Given the description of an element on the screen output the (x, y) to click on. 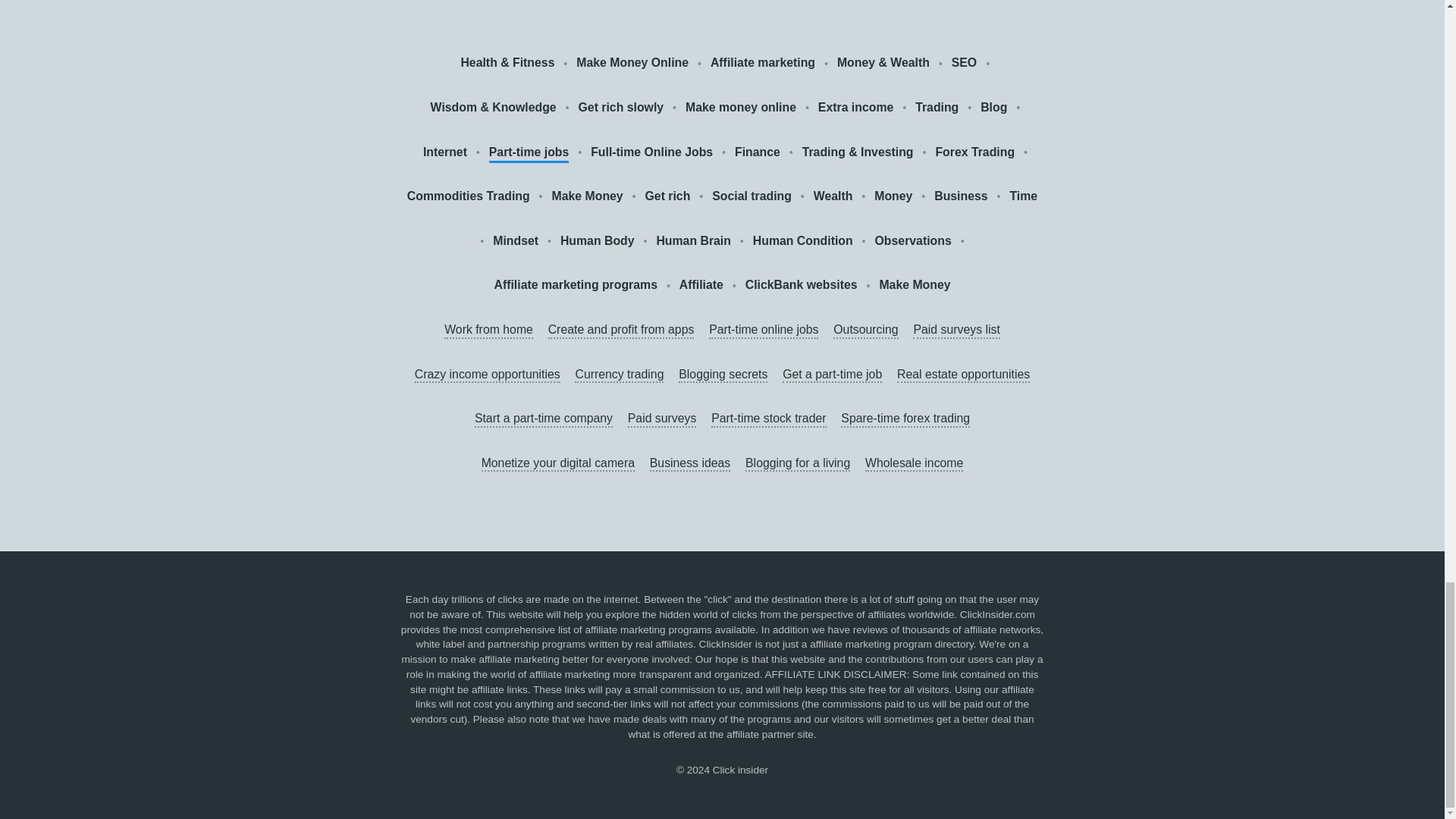
Make Money (587, 196)
Finance (757, 152)
Wealth (833, 196)
Commodities Trading (468, 196)
Part-time jobs (529, 152)
Extra income (855, 107)
Forex Trading (974, 152)
Make money online (740, 107)
Time (1022, 196)
Internet (445, 152)
Get rich (667, 196)
Human Body (597, 240)
SEO (965, 63)
Get rich slowly (620, 107)
Business (960, 196)
